Given the description of an element on the screen output the (x, y) to click on. 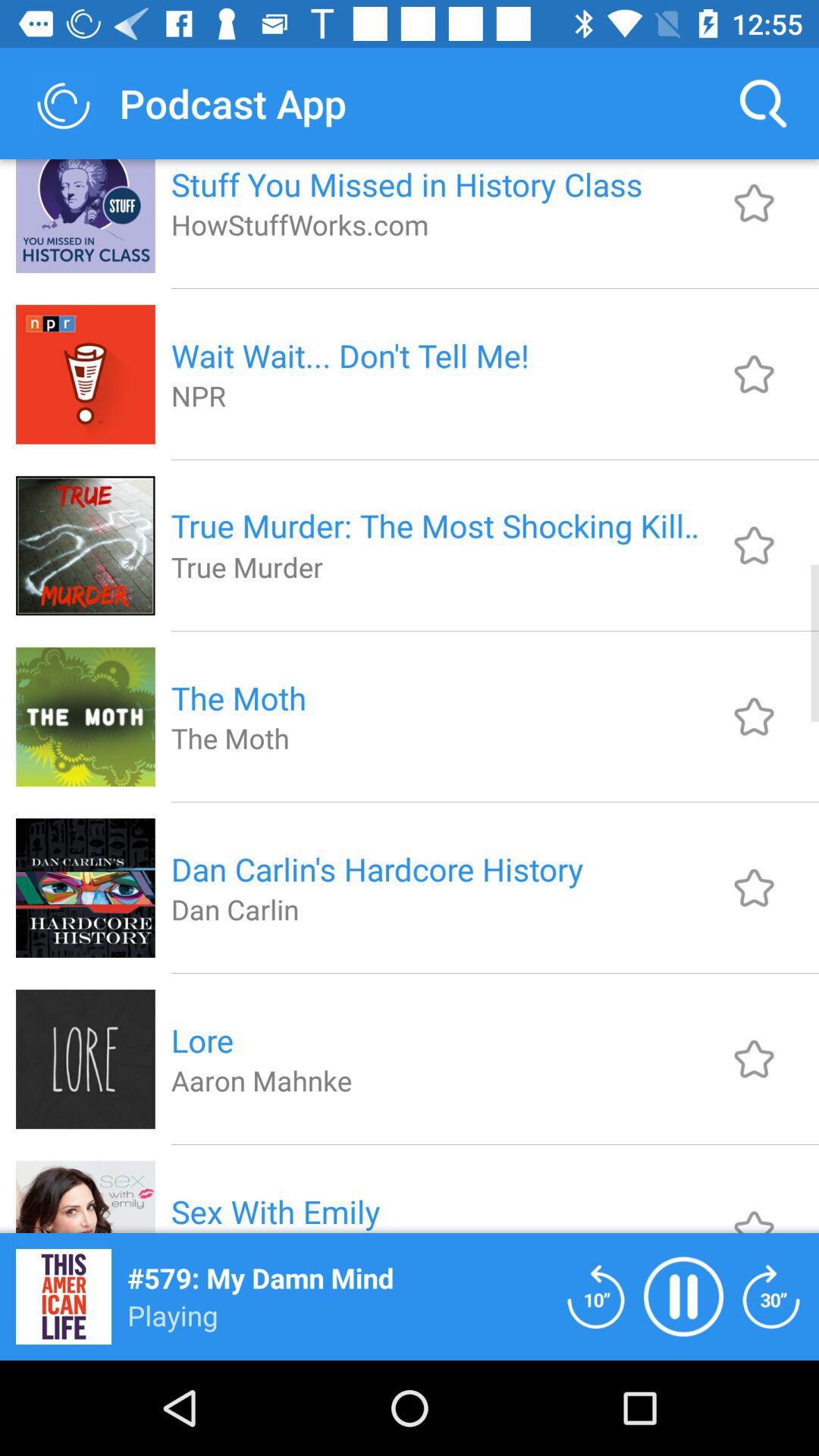
star or favorite a podcast (754, 716)
